Given the description of an element on the screen output the (x, y) to click on. 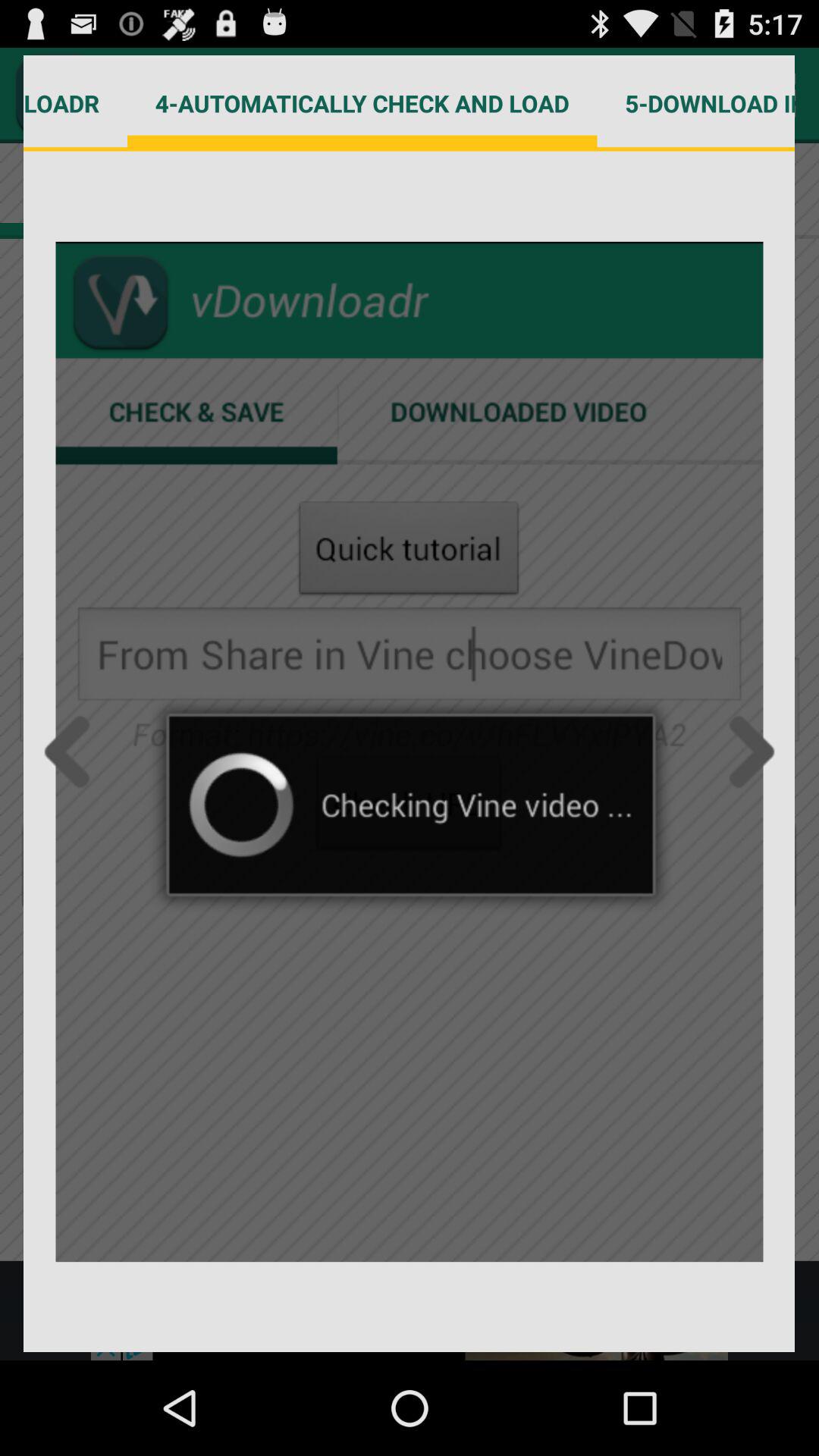
next page (747, 751)
